Given the description of an element on the screen output the (x, y) to click on. 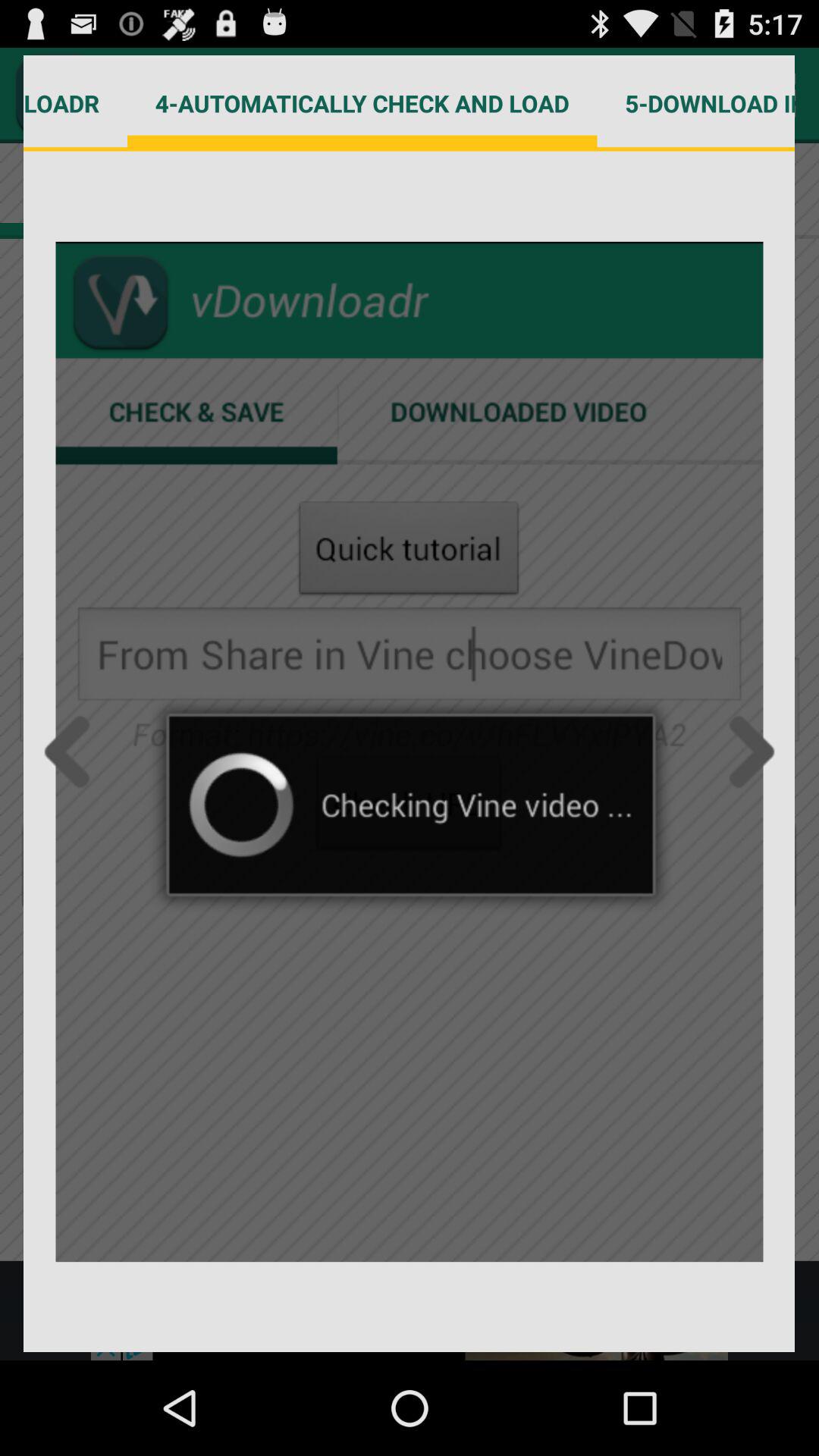
next page (747, 751)
